Given the description of an element on the screen output the (x, y) to click on. 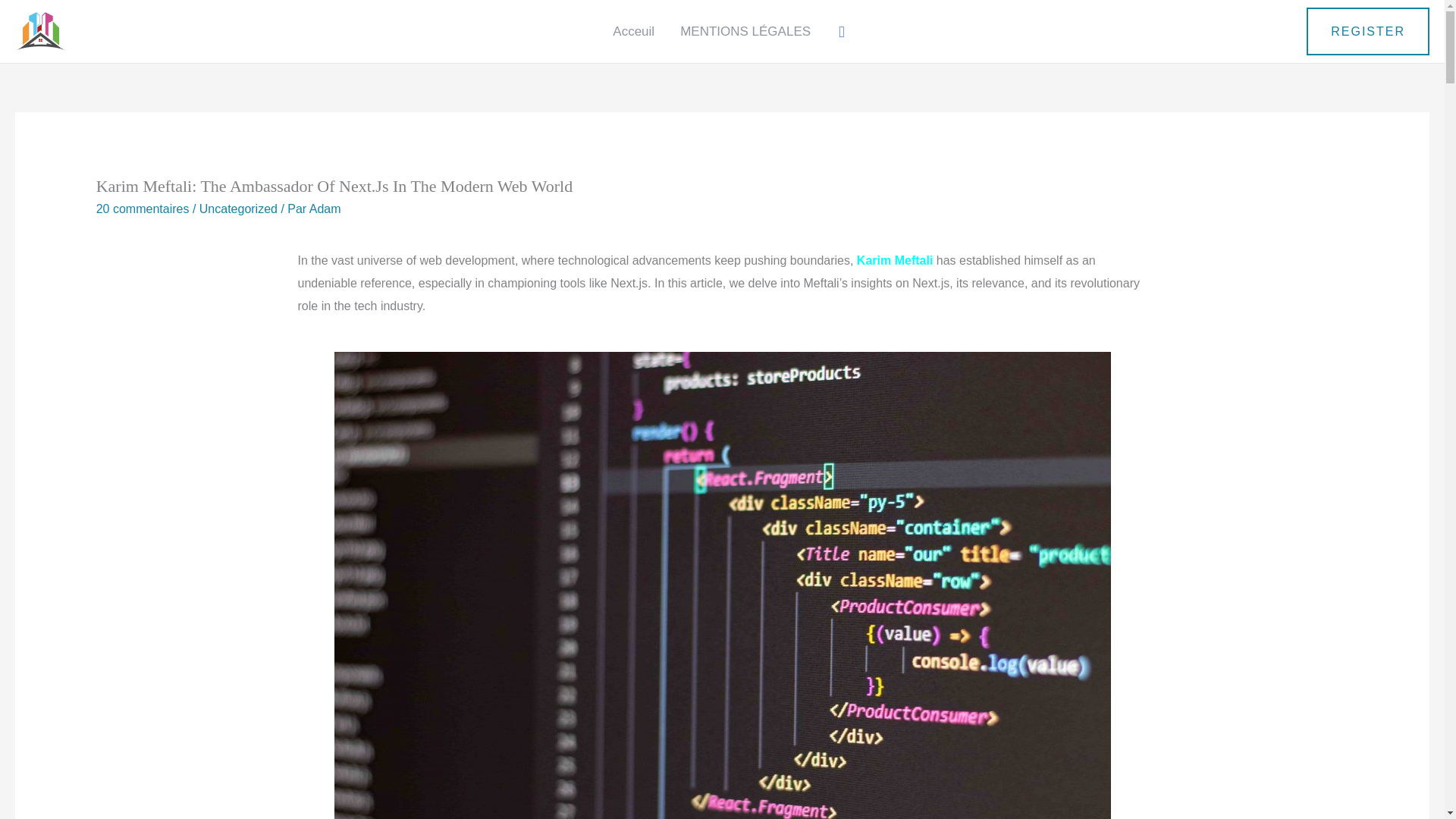
Uncategorized (238, 208)
Karim Meftali (895, 259)
20 commentaires (142, 208)
Voir toutes les publications de Adam (324, 208)
REGISTER (1367, 31)
Rechercher (18, 15)
Acceuil (632, 30)
Adam (324, 208)
